Given the description of an element on the screen output the (x, y) to click on. 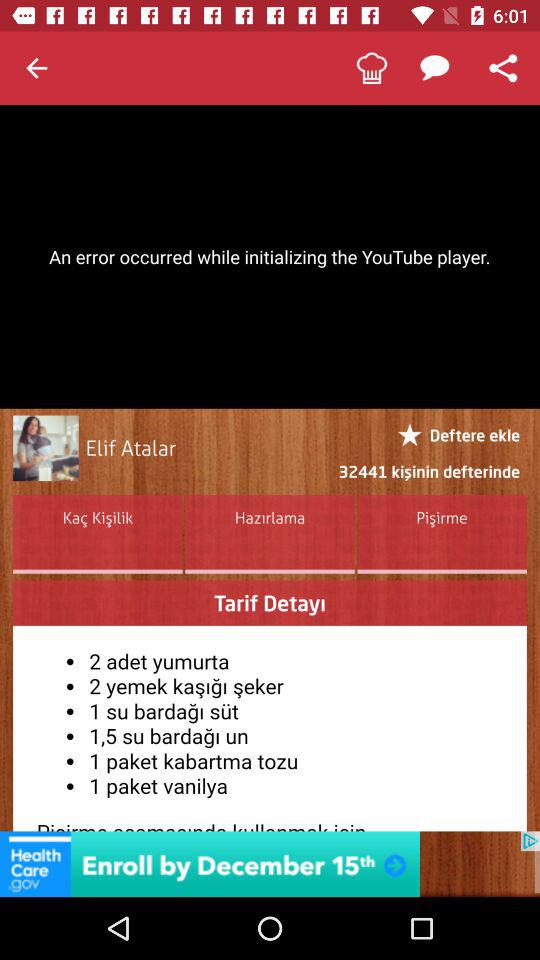
open user profile (45, 448)
